Given the description of an element on the screen output the (x, y) to click on. 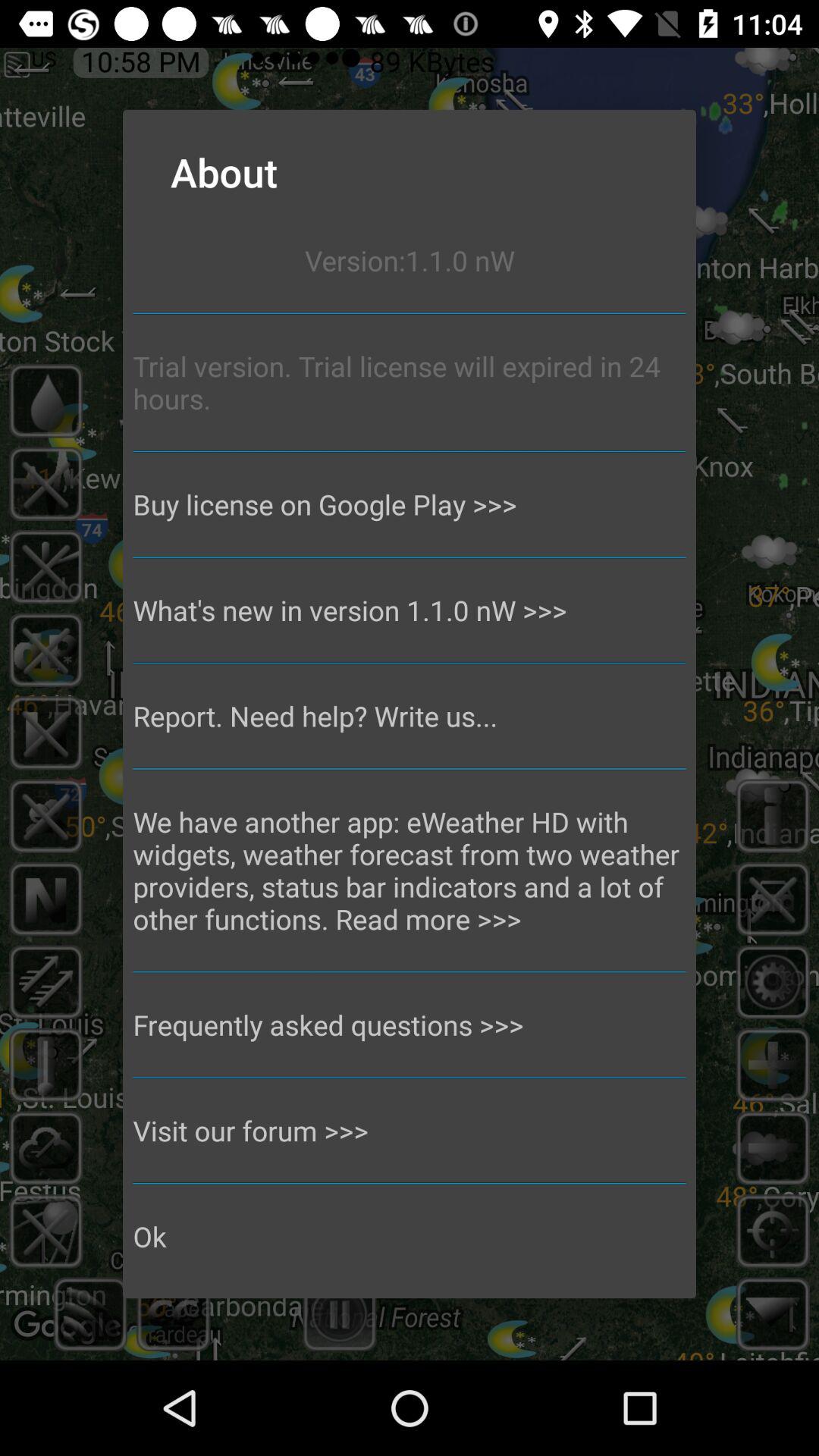
turn off the visit our forum >>> icon (409, 1130)
